Given the description of an element on the screen output the (x, y) to click on. 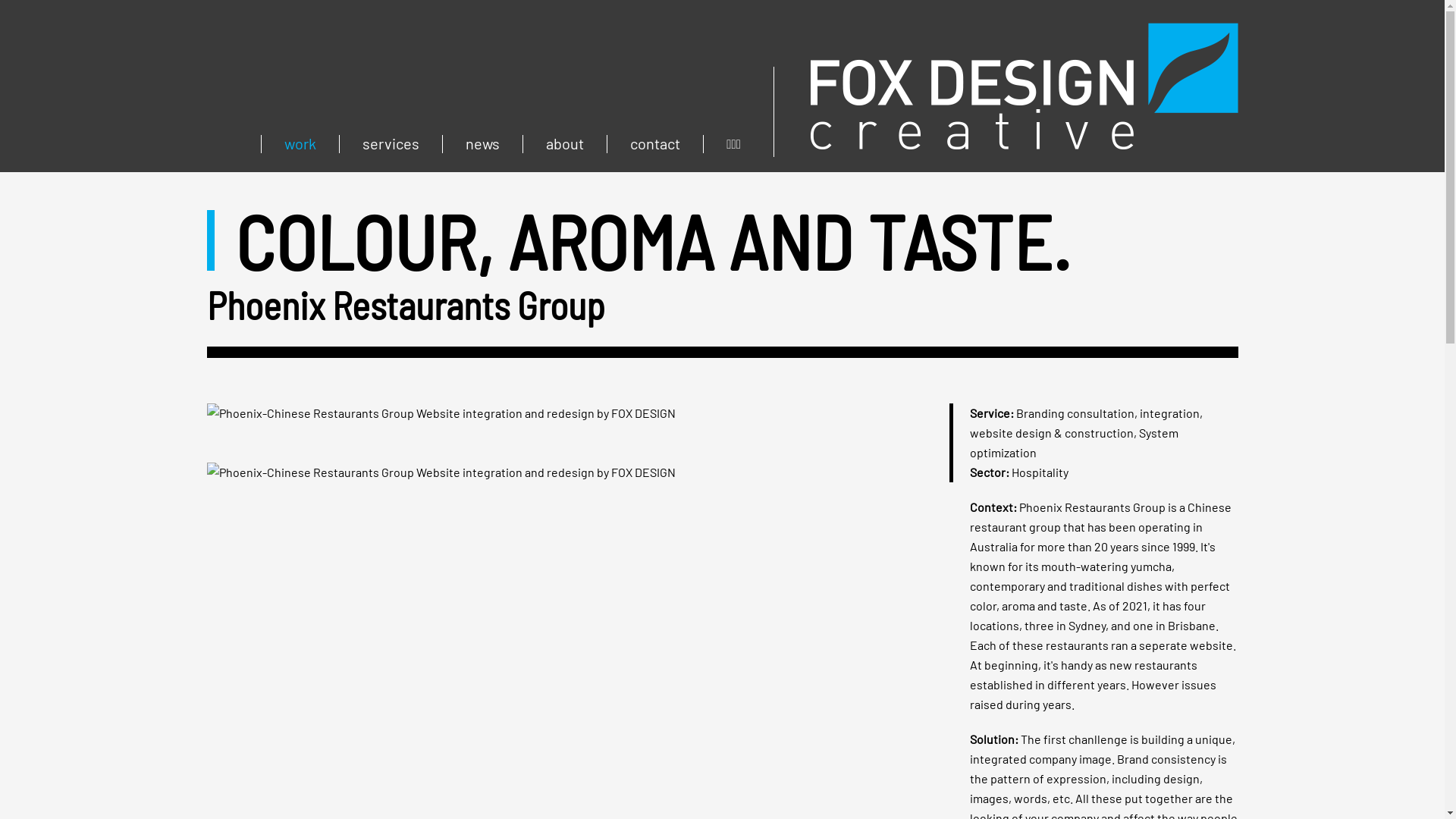
news Element type: text (482, 143)
services Element type: text (390, 143)
work Element type: text (299, 143)
contact Element type: text (654, 143)
about Element type: text (564, 143)
